Given the description of an element on the screen output the (x, y) to click on. 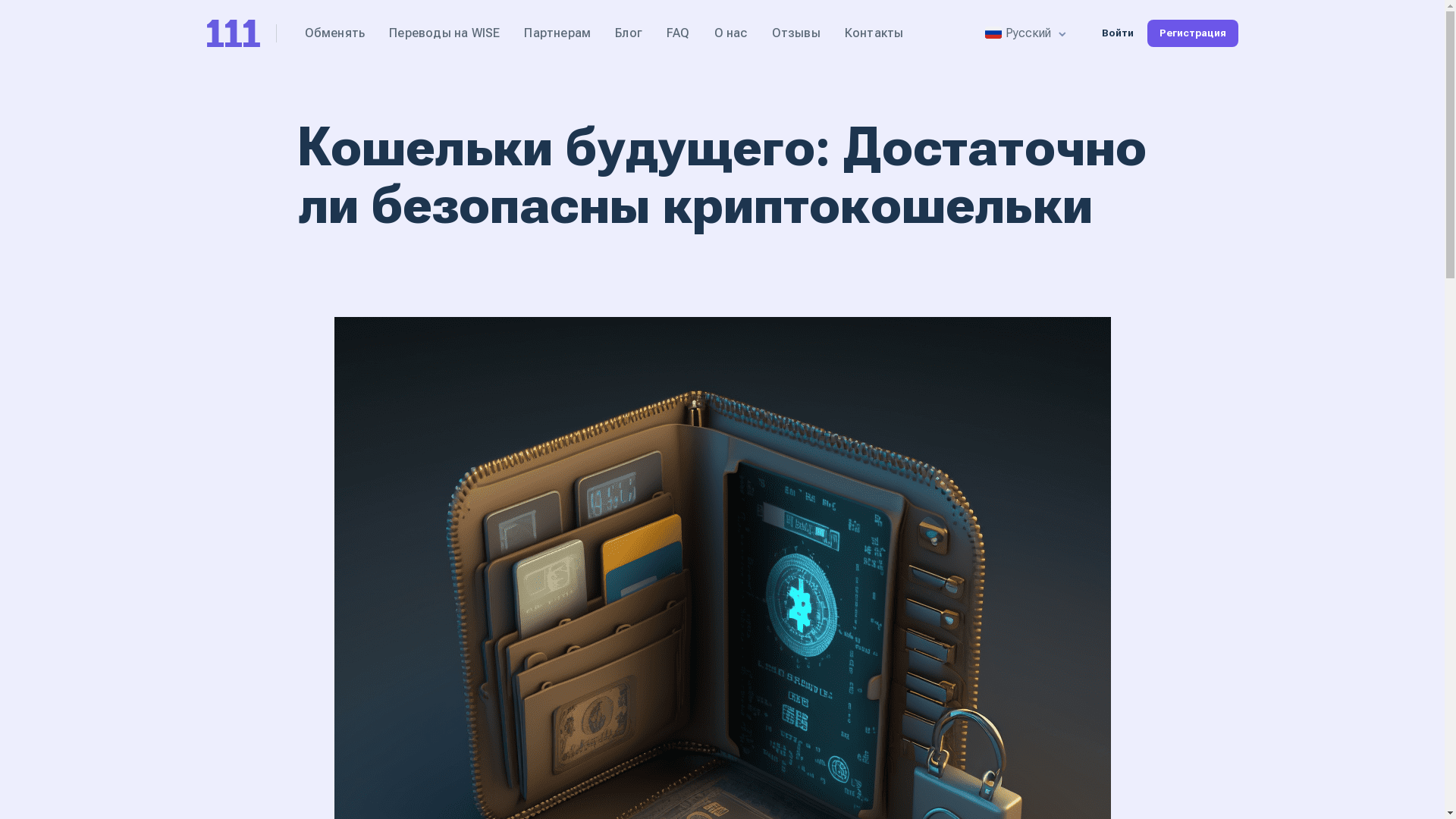
FAQ Element type: text (678, 32)
